Given the description of an element on the screen output the (x, y) to click on. 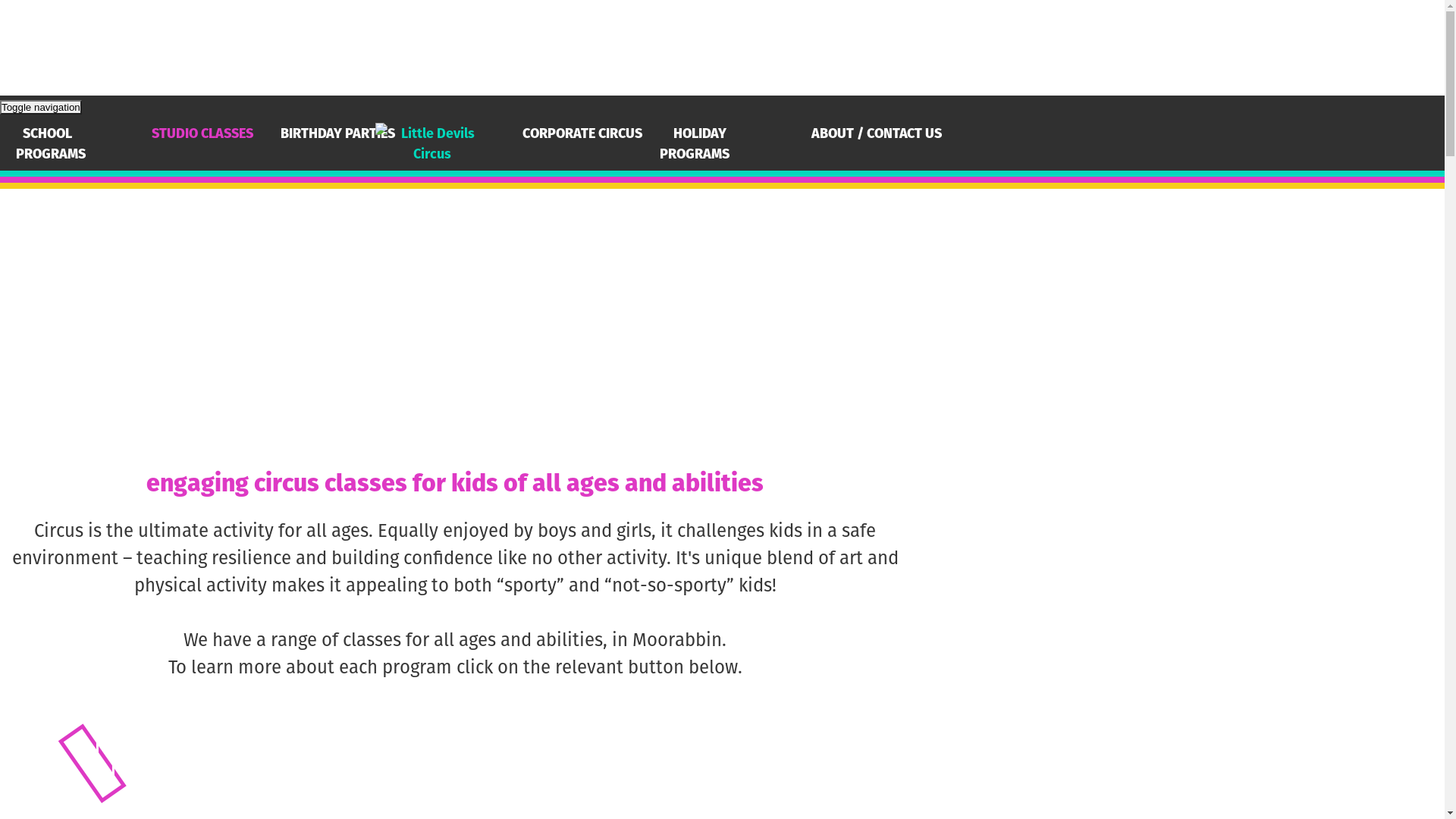
SCHOOL PROGRAMS Element type: text (53, 143)
CORPORATE CIRCUS Element type: text (582, 132)
STUDIO CLASSES Element type: text (202, 132)
Toggle navigation Element type: text (40, 107)
HOLIDAY PROGRAMS Element type: text (701, 143)
BIRTHDAY PARTIES Element type: text (337, 132)
ABOUT / CONTACT US Element type: text (876, 132)
